Given the description of an element on the screen output the (x, y) to click on. 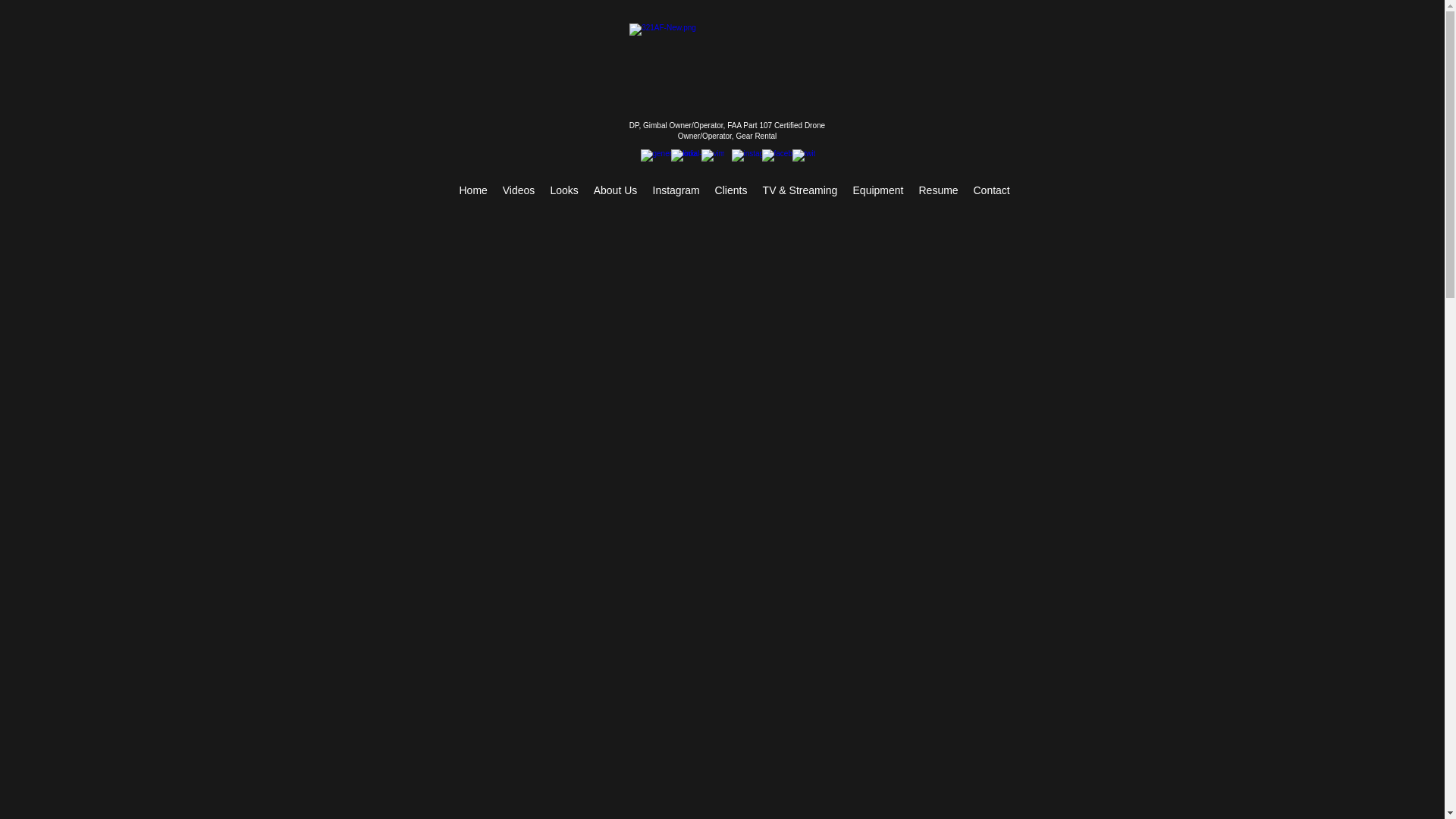
Home Element type: text (473, 190)
Contact Element type: text (991, 190)
About Us Element type: text (614, 190)
Instagram Element type: text (675, 190)
Resume Element type: text (938, 190)
Equipment Element type: text (877, 190)
TV & Streaming Element type: text (800, 190)
Looks Element type: text (564, 190)
Clients Element type: text (730, 190)
